Given the description of an element on the screen output the (x, y) to click on. 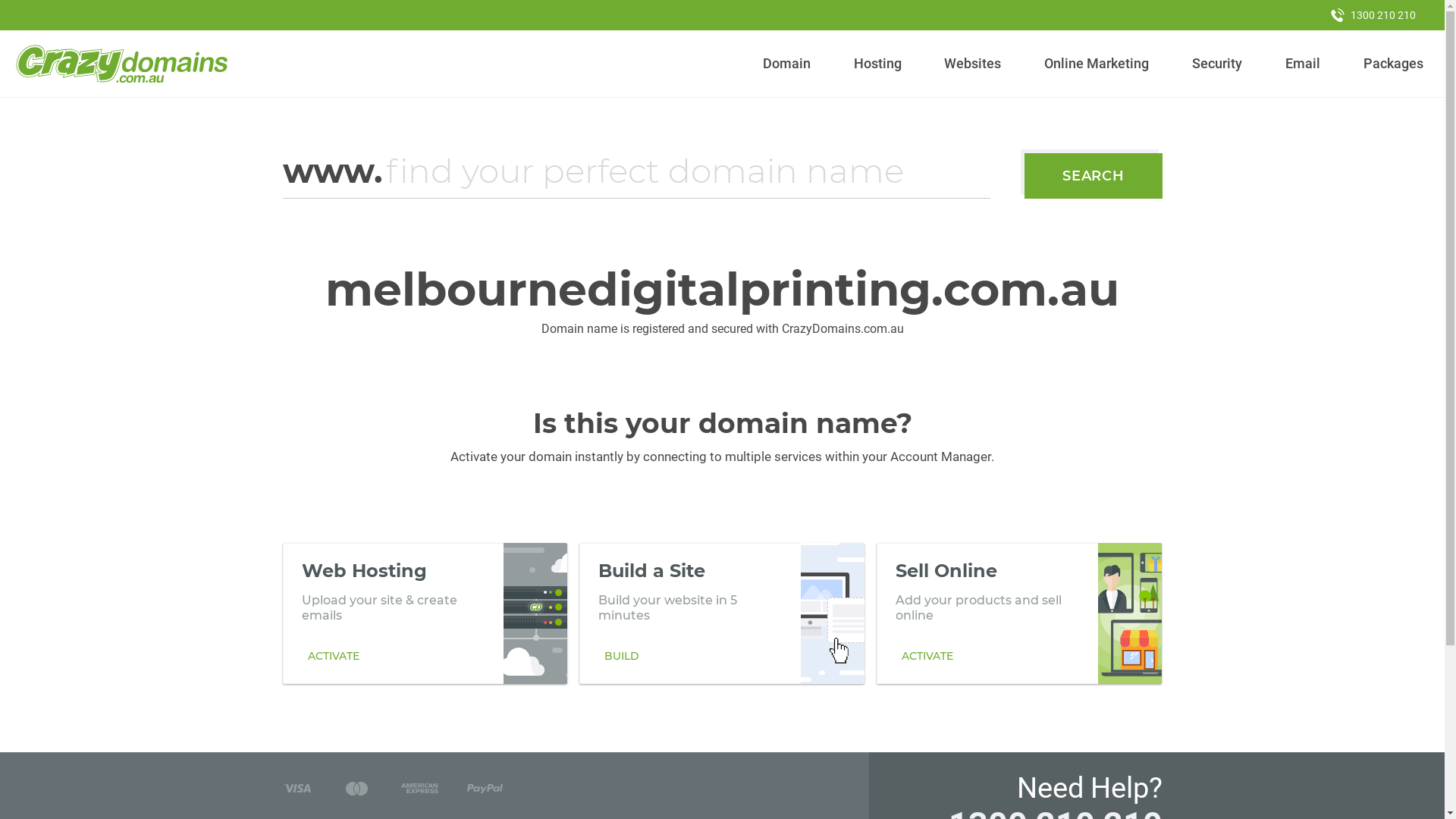
Security Element type: text (1217, 63)
1300 210 210 Element type: text (1373, 15)
Domain Element type: text (786, 63)
Websites Element type: text (972, 63)
Email Element type: text (1302, 63)
Online Marketing Element type: text (1096, 63)
Web Hosting
Upload your site & create emails
ACTIVATE Element type: text (424, 613)
Packages Element type: text (1392, 63)
Sell Online
Add your products and sell online
ACTIVATE Element type: text (1018, 613)
Build a Site
Build your website in 5 minutes
BUILD Element type: text (721, 613)
Hosting Element type: text (877, 63)
SEARCH Element type: text (1092, 175)
